Given the description of an element on the screen output the (x, y) to click on. 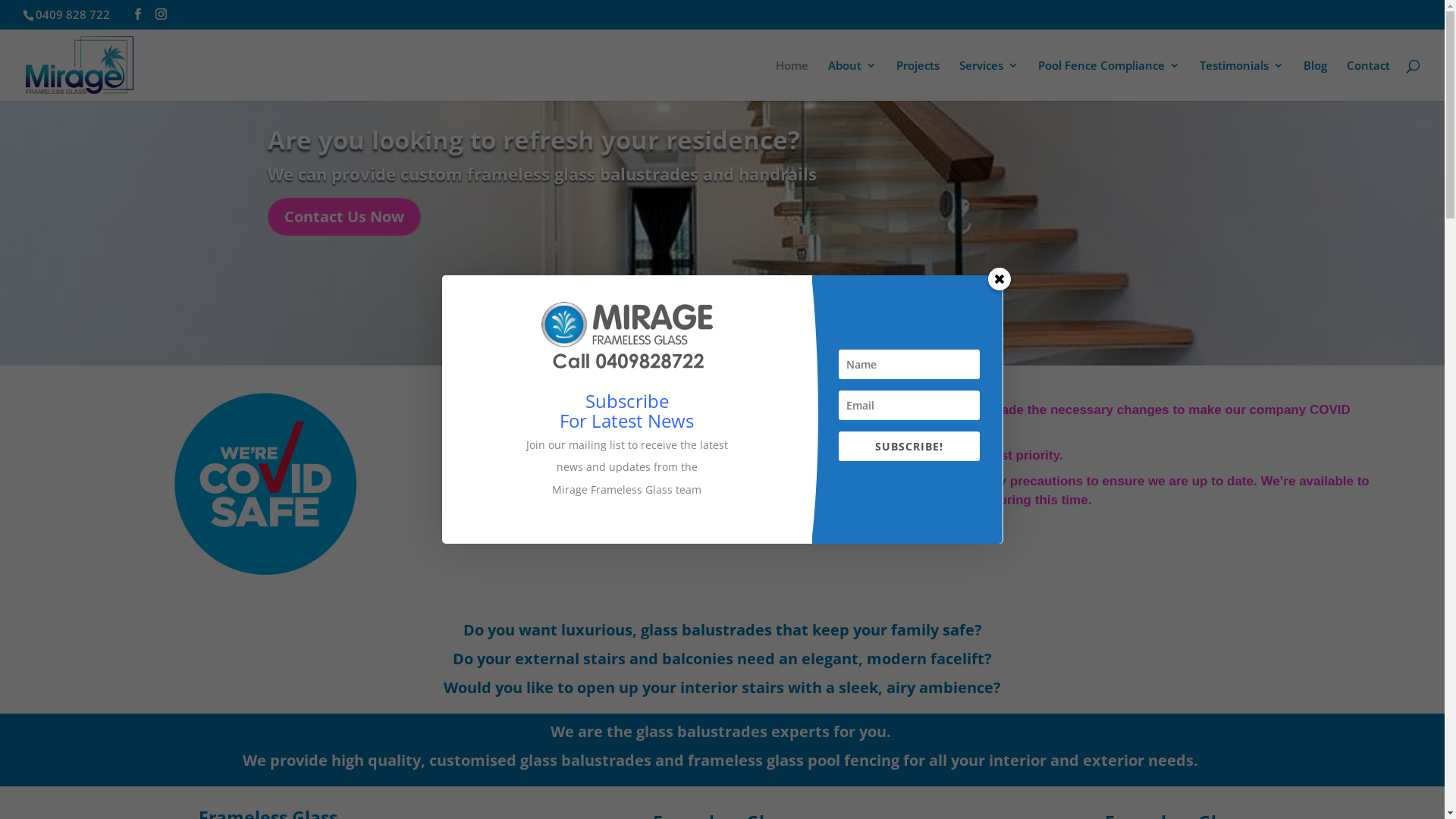
Home Element type: text (791, 79)
Contact Element type: text (1368, 79)
About Element type: text (852, 79)
Contact Us Now Element type: text (343, 216)
COVID-Safe-Badge-Digital Element type: hover (265, 483)
Pool Fence Compliance Element type: text (1108, 79)
Blog Element type: text (1315, 79)
Projects Element type: text (917, 79)
Testimonials Element type: text (1241, 79)
Services Element type: text (988, 79)
SUBSCRIBE! Element type: text (909, 446)
